Given the description of an element on the screen output the (x, y) to click on. 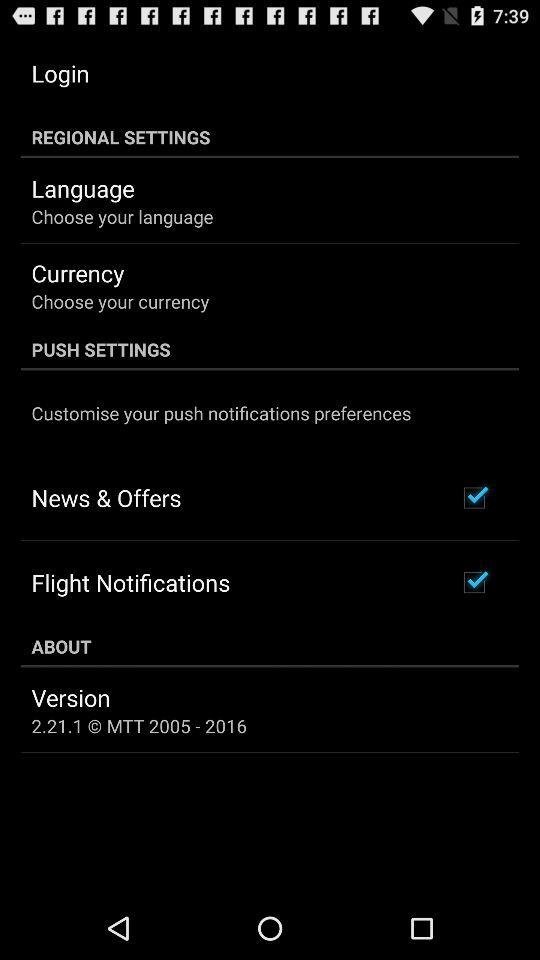
scroll until the 2 21 1 (139, 725)
